Given the description of an element on the screen output the (x, y) to click on. 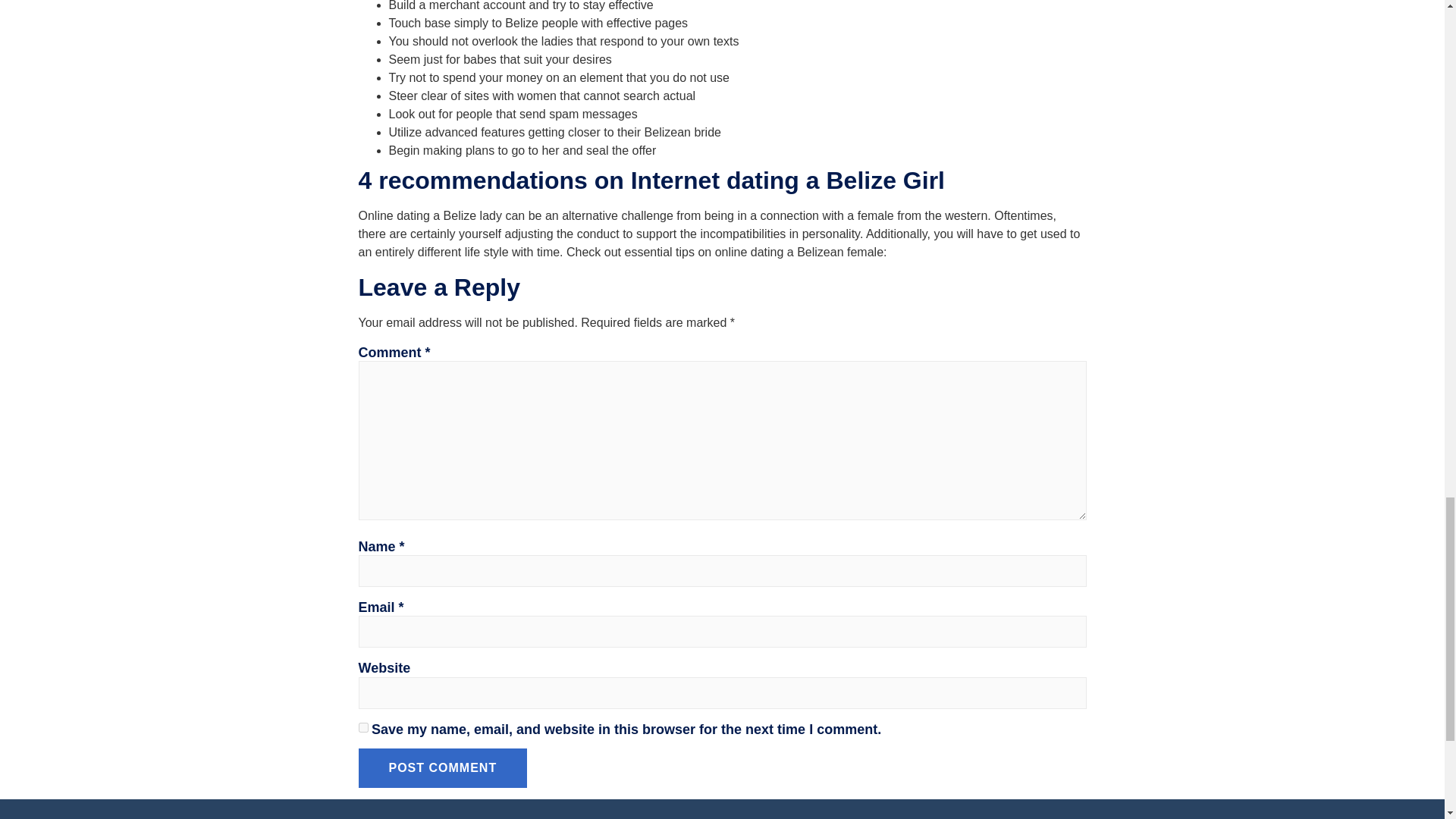
Post Comment (442, 767)
Post Comment (442, 767)
yes (363, 727)
